Given the description of an element on the screen output the (x, y) to click on. 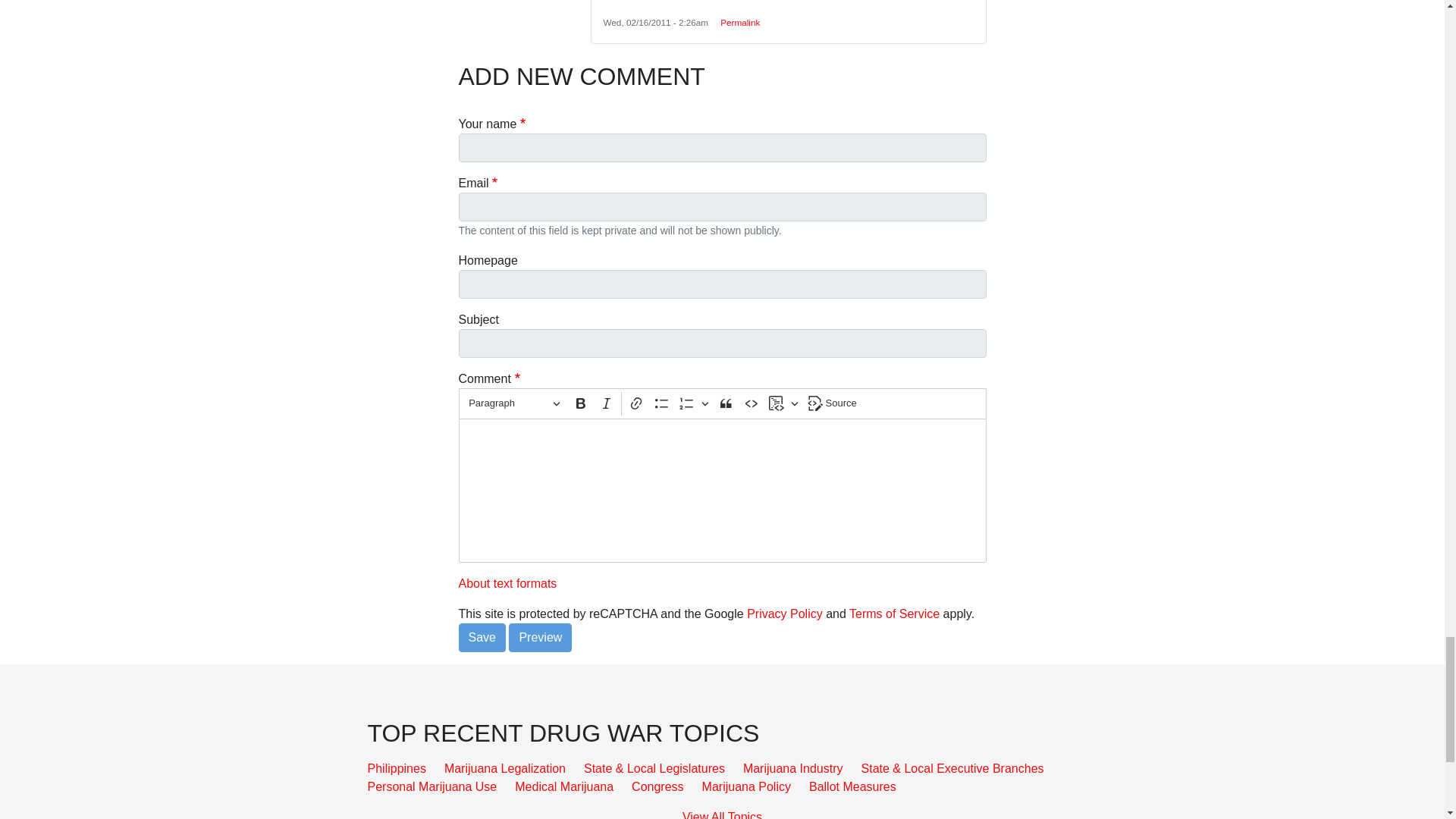
Preview (540, 637)
Save (481, 637)
